Given the description of an element on the screen output the (x, y) to click on. 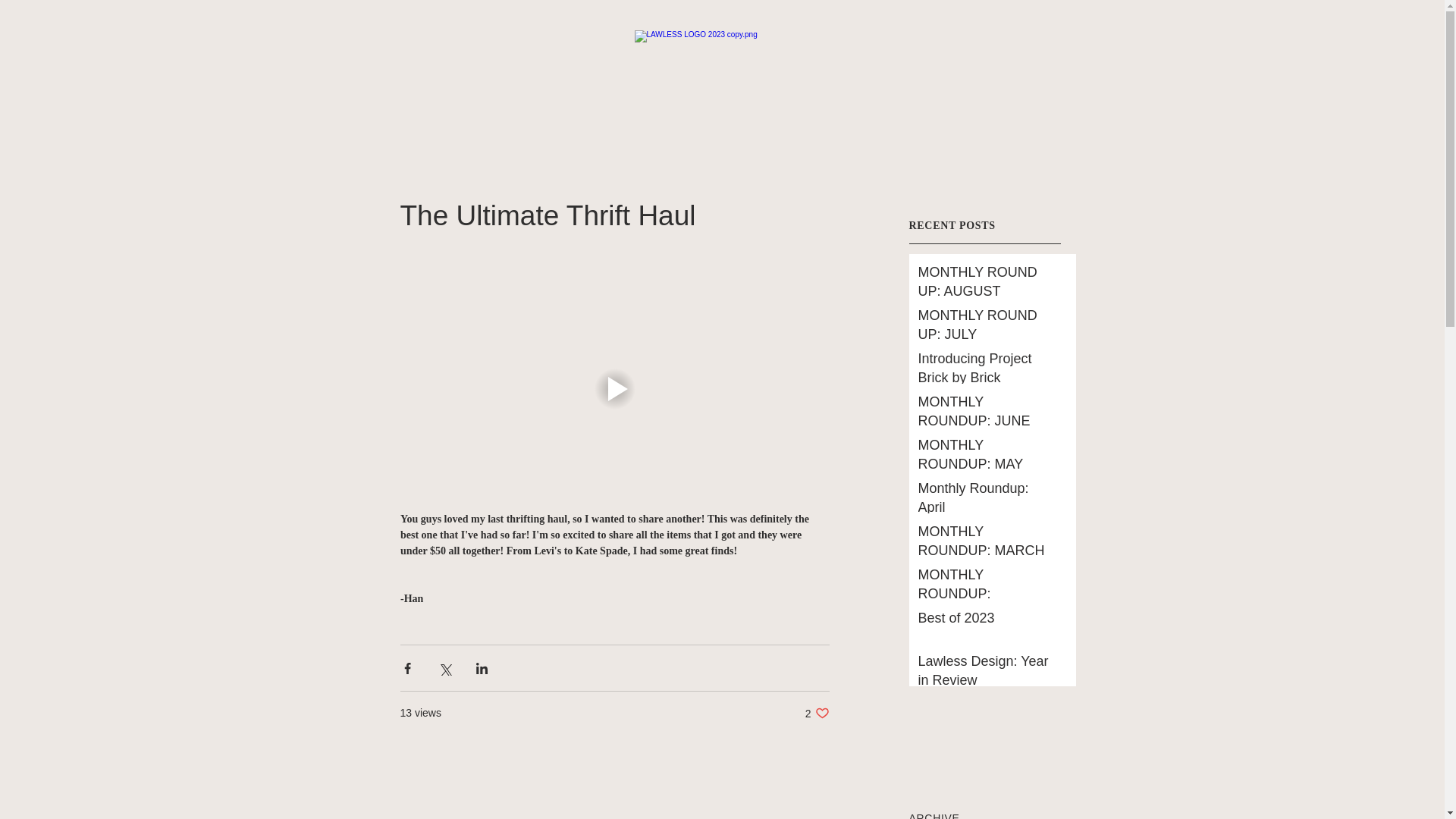
Introducing Project Brick by Brick (986, 371)
MONTHLY ROUNDUP: MARCH (986, 544)
Monthly Roundup: April (817, 712)
MONTHLY ROUND UP: JULY (986, 501)
MONTHLY ROUNDUP: MAY (986, 328)
MONTHLY ROUNDUP: FEBRUARY (986, 457)
Best of 2023 (986, 597)
Lawless Design: Year in Review (986, 621)
MONTHLY ROUNDUP: JUNE (986, 673)
